Given the description of an element on the screen output the (x, y) to click on. 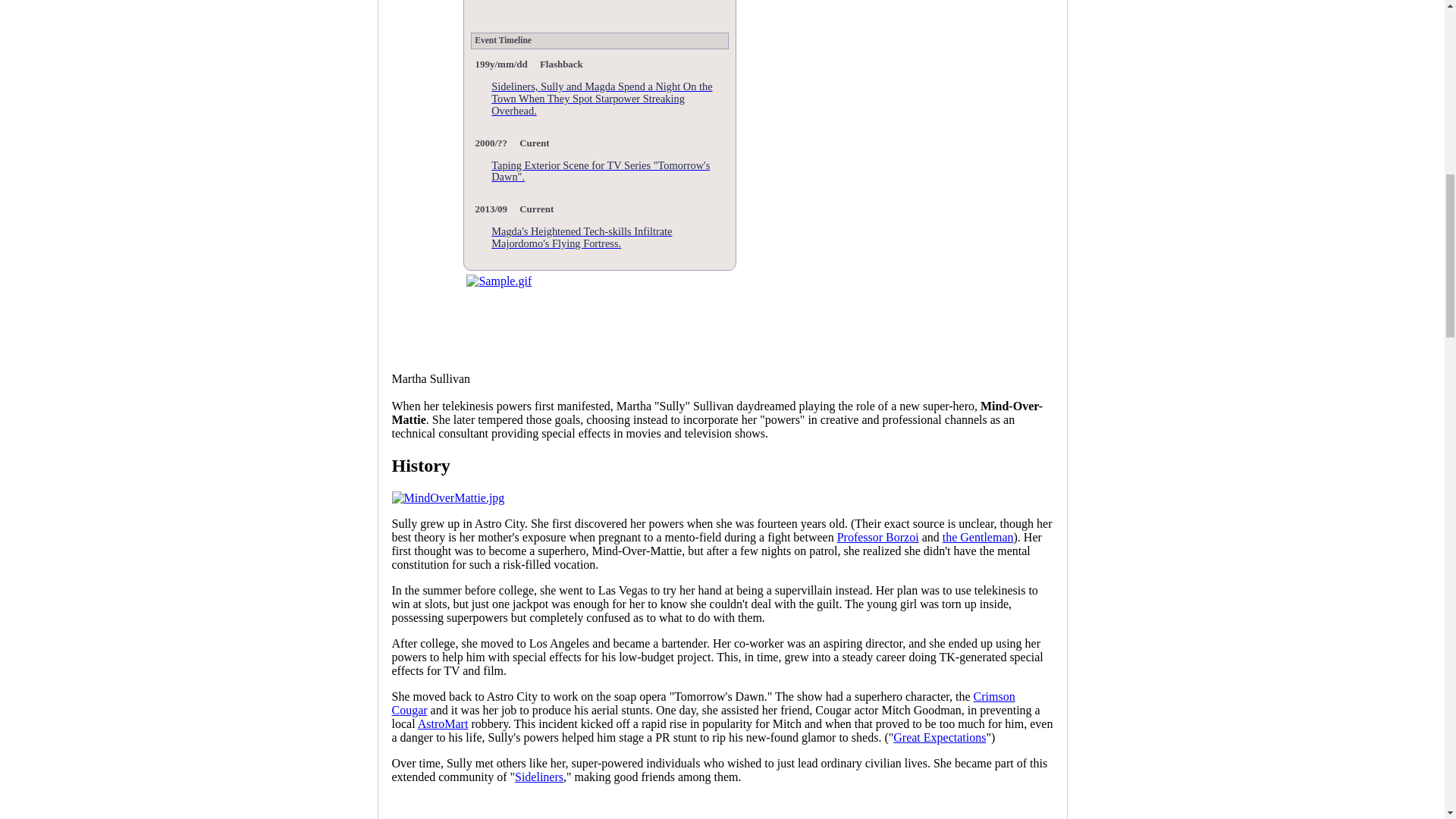
Crimson Cougar (702, 703)
AstroMart (442, 723)
Great Expectations (939, 737)
the Gentleman (977, 536)
Crimson Cougar (702, 703)
Professor Borzoi (877, 536)
Category:Sideliners (539, 776)
The Gentleman (977, 536)
